Given the description of an element on the screen output the (x, y) to click on. 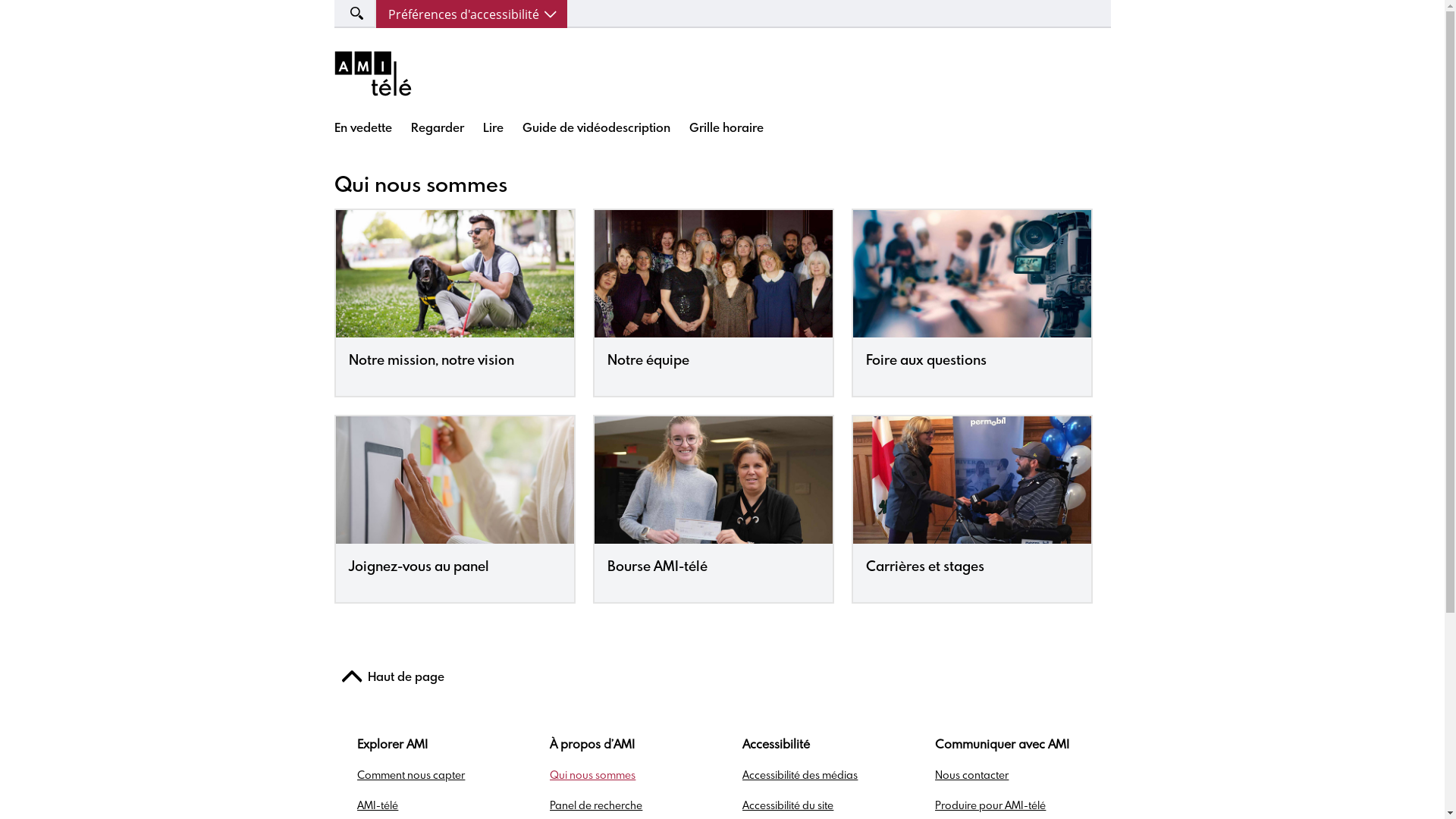
Panel de recherche Element type: text (595, 806)
Rechercher Element type: text (43, 12)
Lire Element type: text (492, 127)
Passer au contenu principal Element type: text (0, 0)
Notre mission, notre vision Element type: text (454, 366)
Joignez-vous au panel Element type: text (454, 572)
Qui nous sommes Element type: text (592, 775)
Nous contacter Element type: text (971, 775)
Haut de page Element type: text (392, 680)
Foire aux questions Element type: text (972, 366)
Regarder Element type: text (437, 127)
Grille horaire Element type: text (725, 127)
Joignez-vous au panel Element type: text (452, 567)
Foire aux questions Element type: text (969, 360)
Notre mission, notre vision Element type: text (452, 360)
En vedette Element type: text (362, 127)
Comment nous capter Element type: text (410, 775)
